Given the description of an element on the screen output the (x, y) to click on. 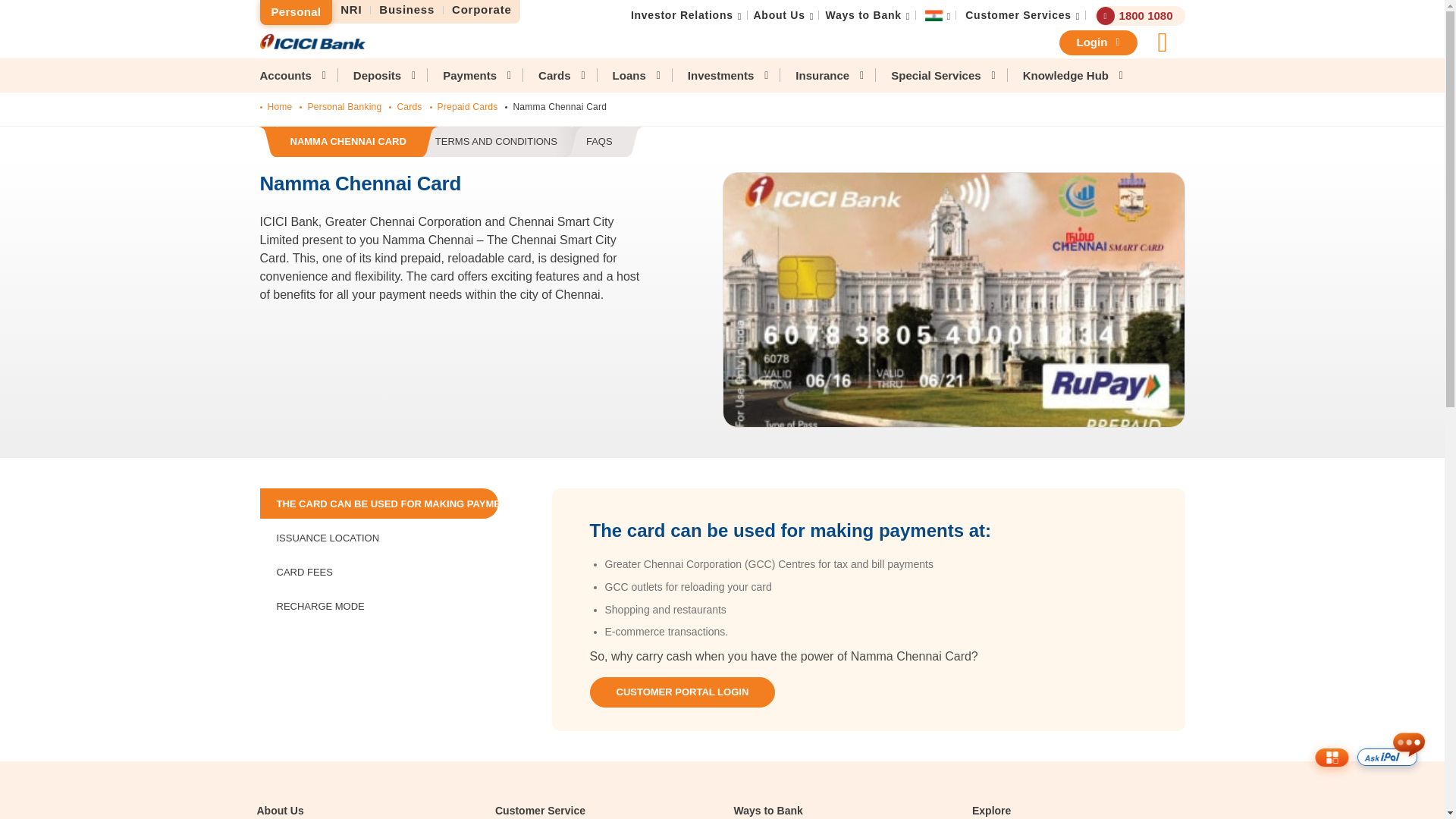
Customer Services (450, 142)
Investor Relations (1018, 15)
About Us (681, 15)
NRI (779, 15)
Personal (351, 9)
Business (295, 12)
Corporate (407, 9)
Ways to Bank (481, 9)
